Given the description of an element on the screen output the (x, y) to click on. 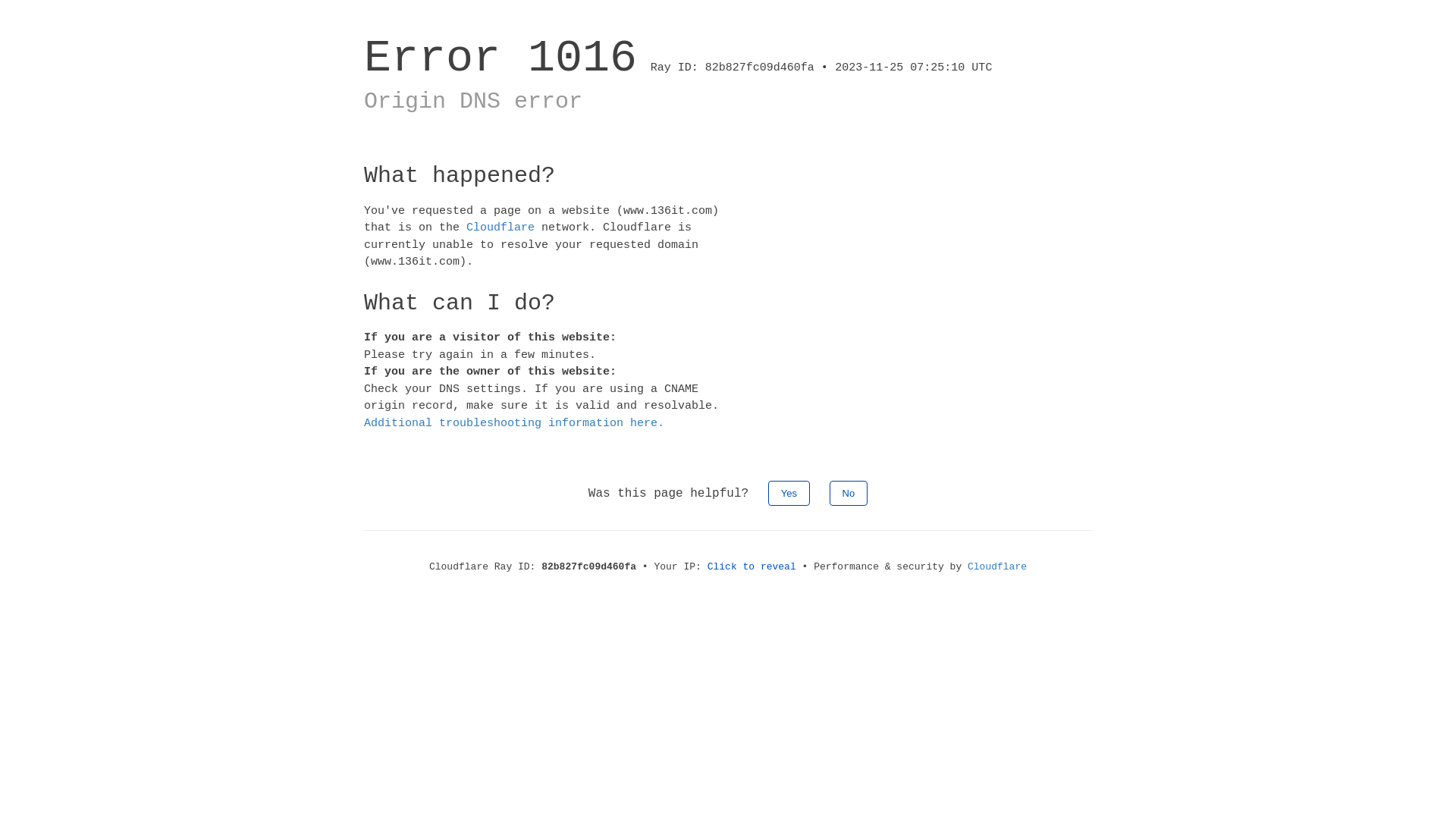
No Element type: text (848, 492)
Click to reveal Element type: text (751, 566)
Additional troubleshooting information here. Element type: text (514, 423)
Cloudflare Element type: text (500, 227)
Yes Element type: text (788, 492)
Cloudflare Element type: text (996, 566)
